Given the description of an element on the screen output the (x, y) to click on. 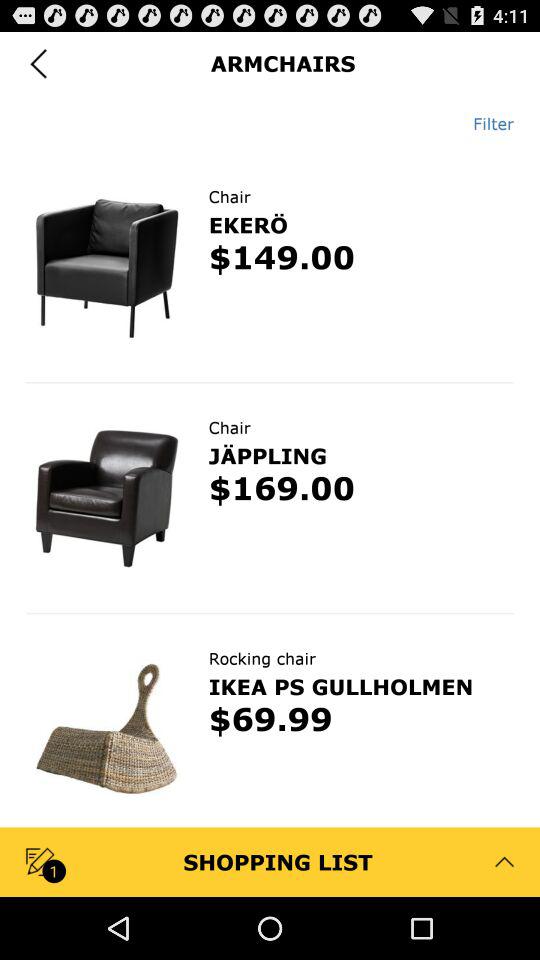
swipe until rocking chair icon (261, 657)
